Given the description of an element on the screen output the (x, y) to click on. 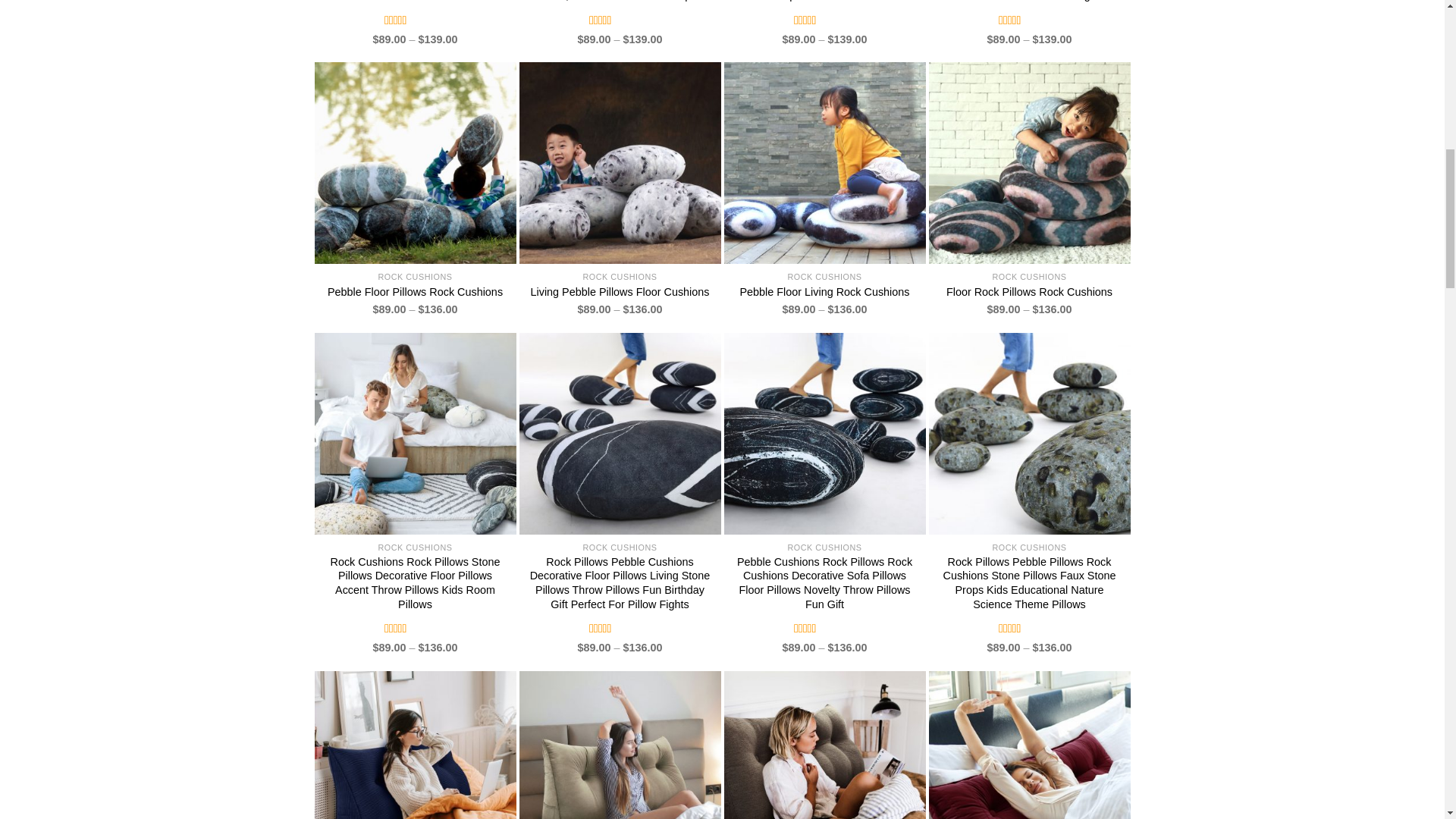
Living Pebble Pillows Floor Cushions (620, 292)
Pebble Floor Living Rock Cushions (824, 292)
Floor Rock Pillows Rock Cushions (1029, 292)
Pebble Floor Pillows Rock Cushions (414, 292)
